Given the description of an element on the screen output the (x, y) to click on. 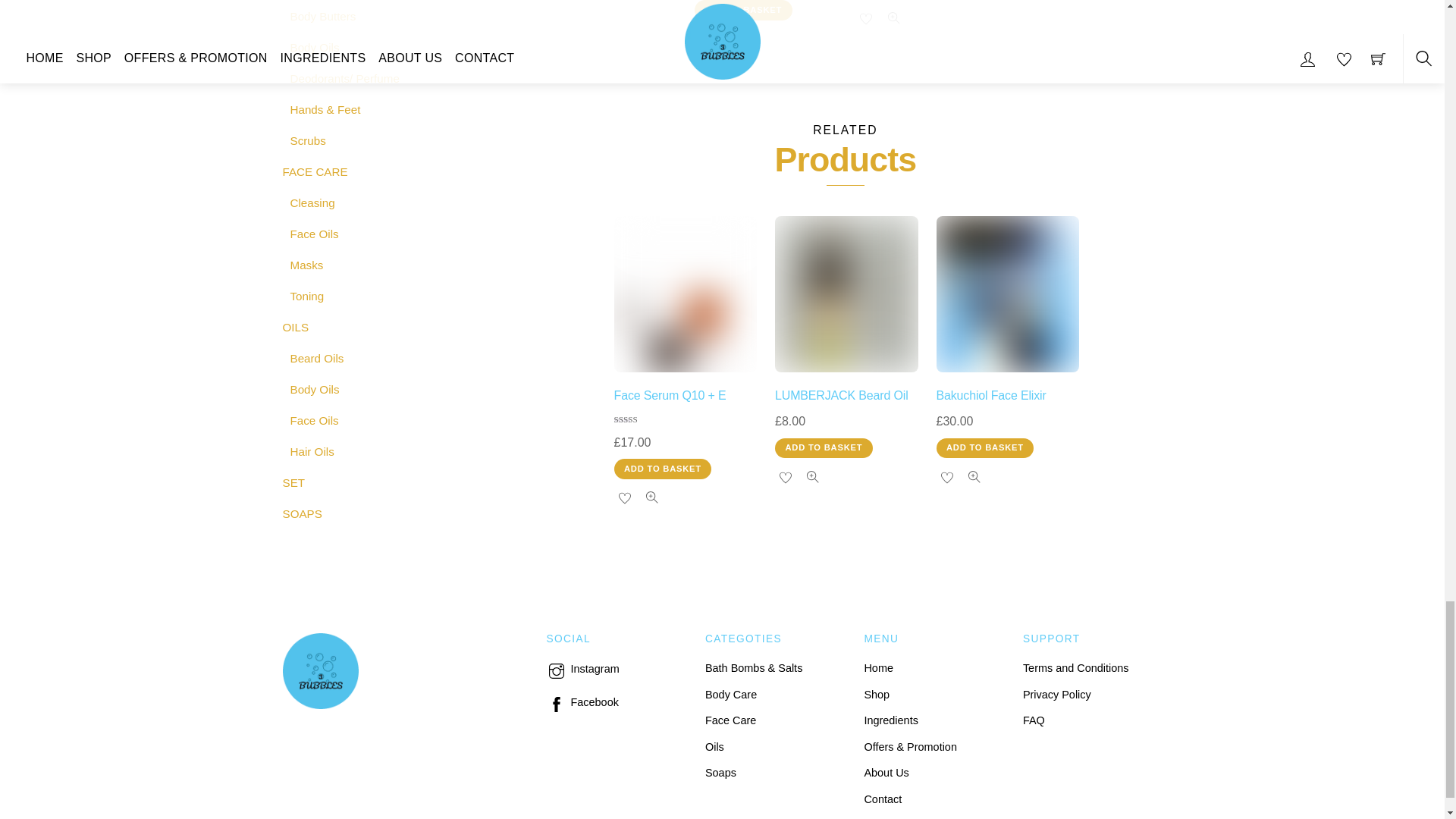
bakuchiol face serum (1007, 293)
Three Bubbles (320, 701)
